Given the description of an element on the screen output the (x, y) to click on. 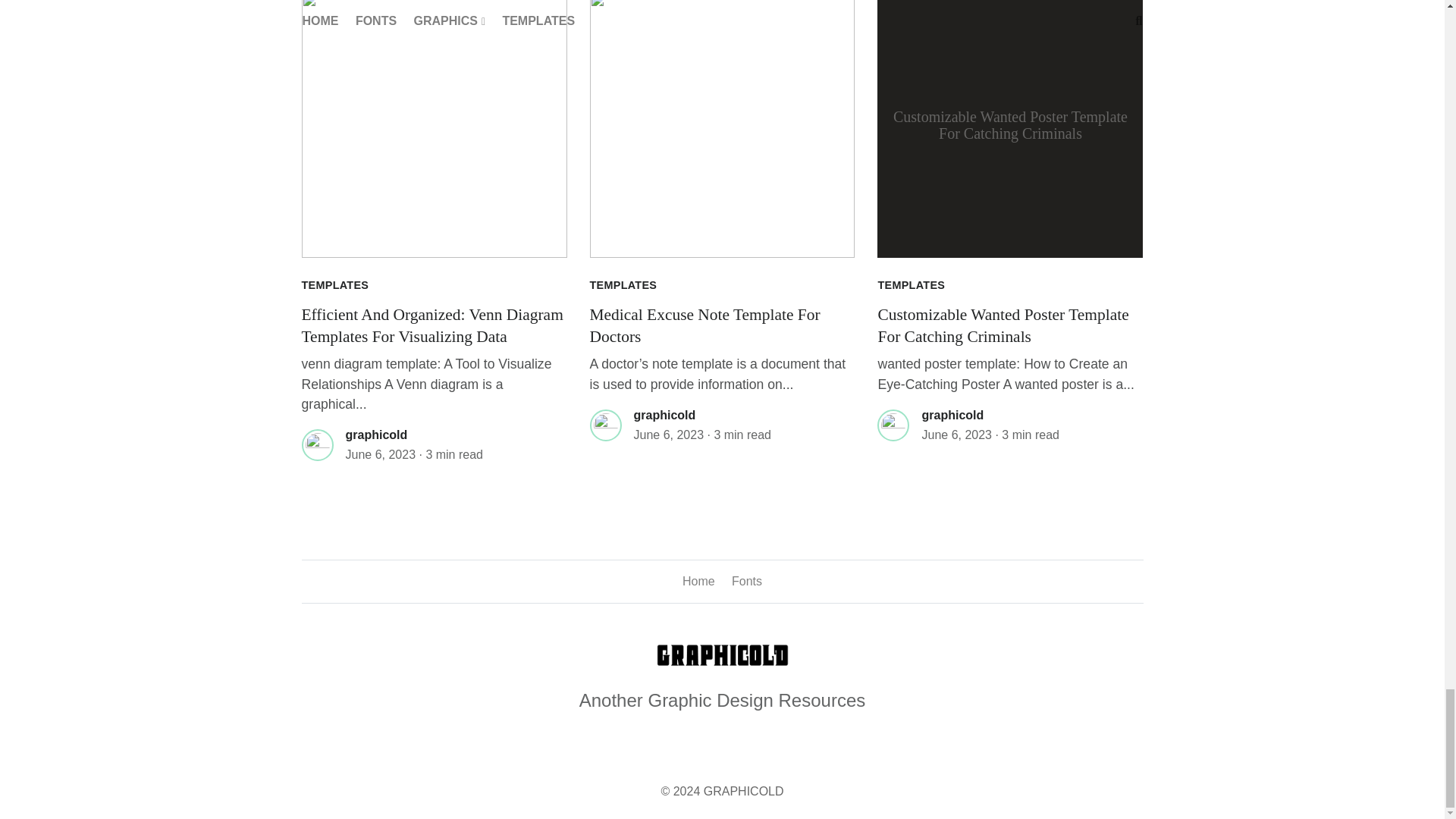
Posts by graphicold (664, 414)
Posts by graphicold (952, 414)
Posts by graphicold (376, 434)
